Given the description of an element on the screen output the (x, y) to click on. 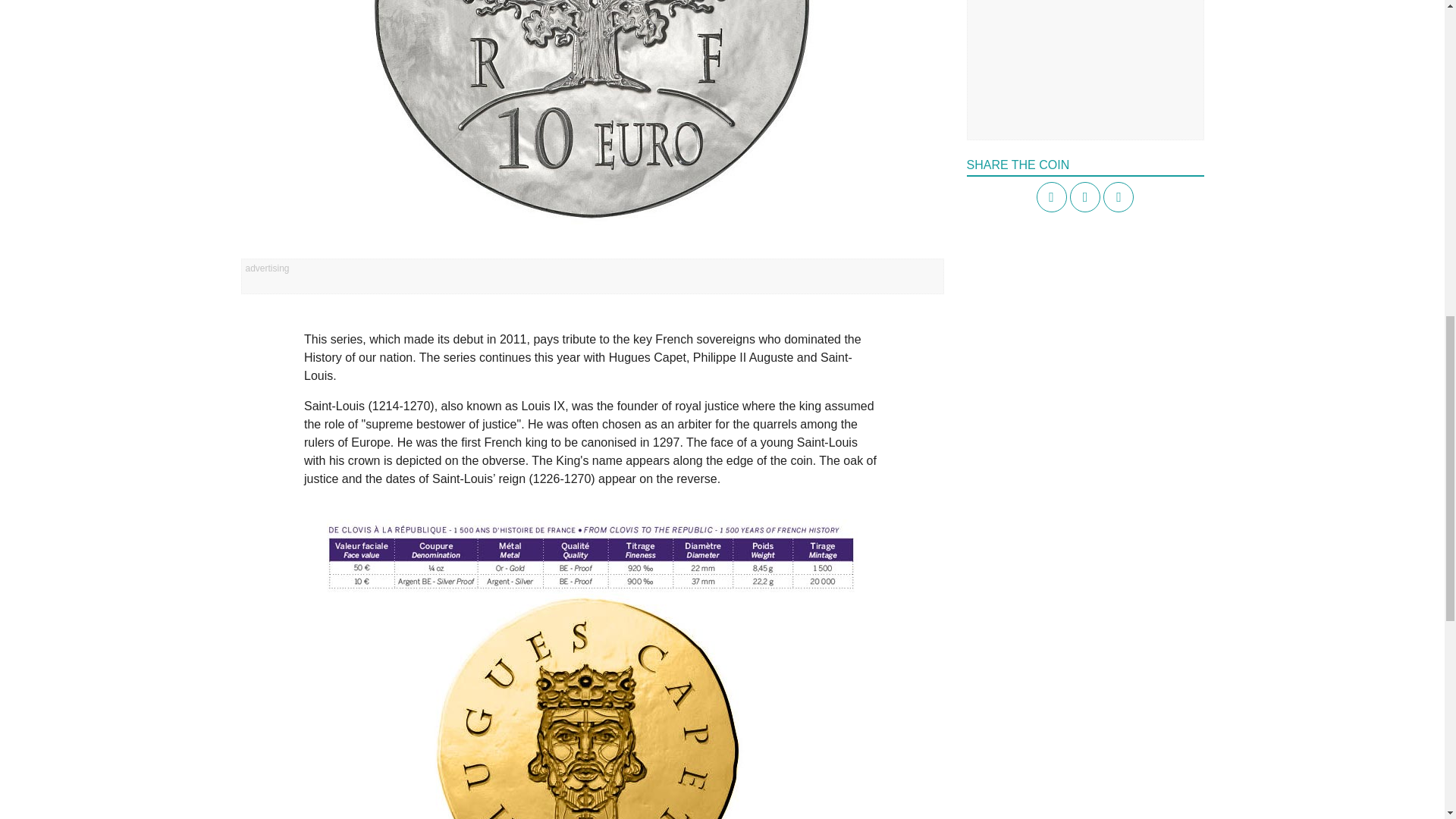
Advertisement (1084, 59)
